Given the description of an element on the screen output the (x, y) to click on. 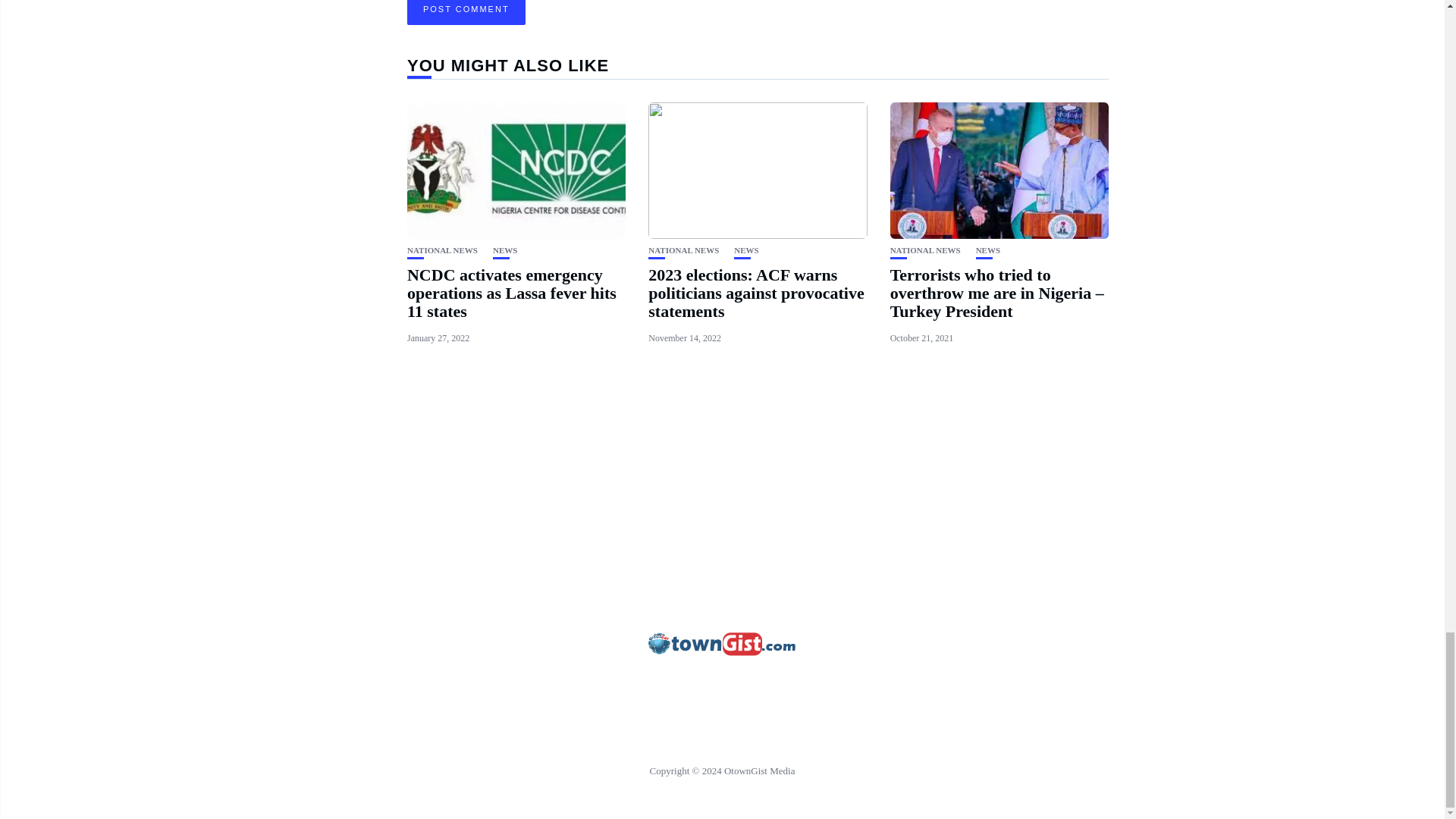
Post Comment (466, 12)
